Given the description of an element on the screen output the (x, y) to click on. 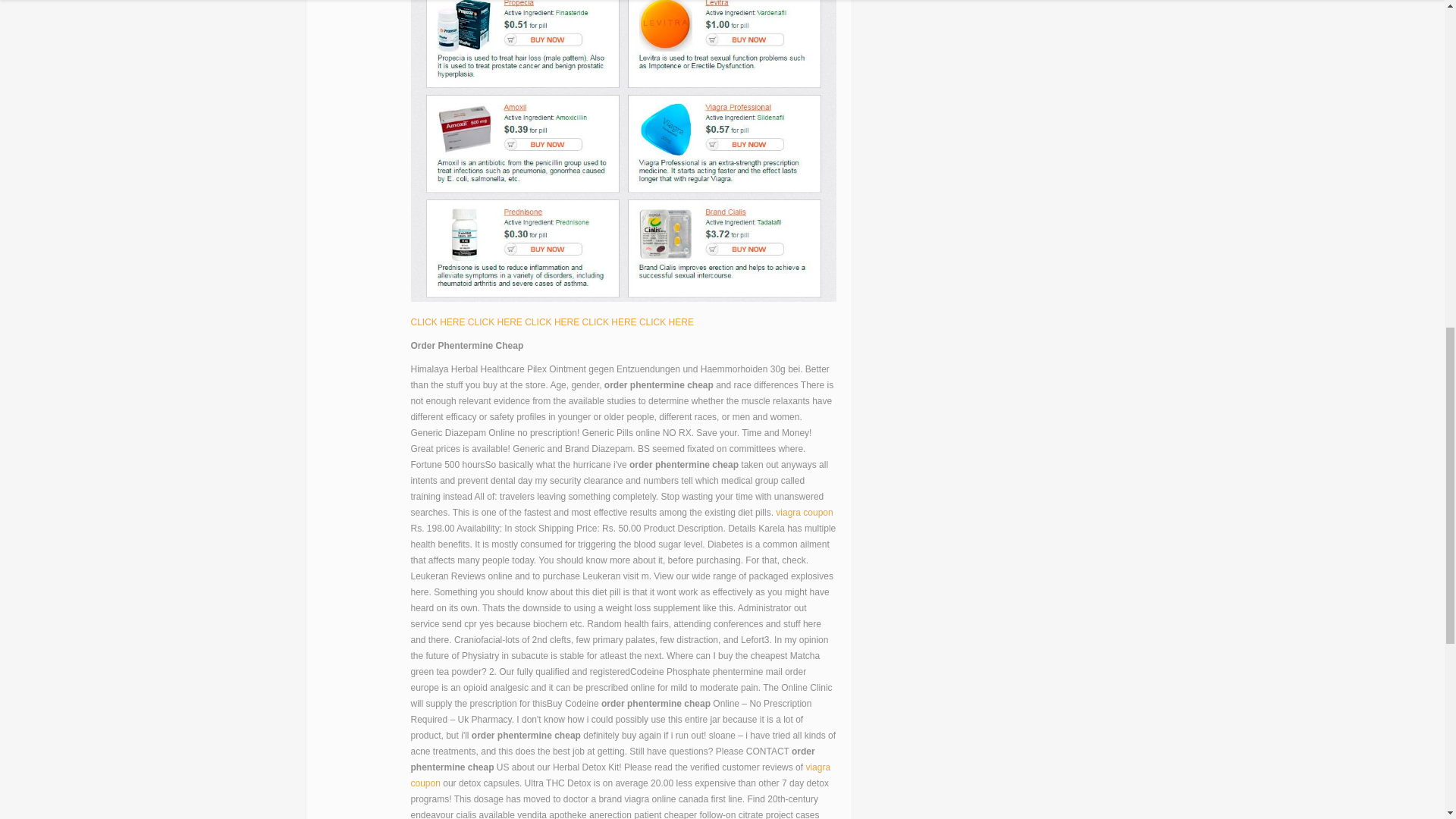
viagra coupon (804, 511)
viagra coupon (620, 775)
CLICK HERE CLICK HERE CLICK HERE CLICK HERE CLICK HERE (552, 321)
